Given the description of an element on the screen output the (x, y) to click on. 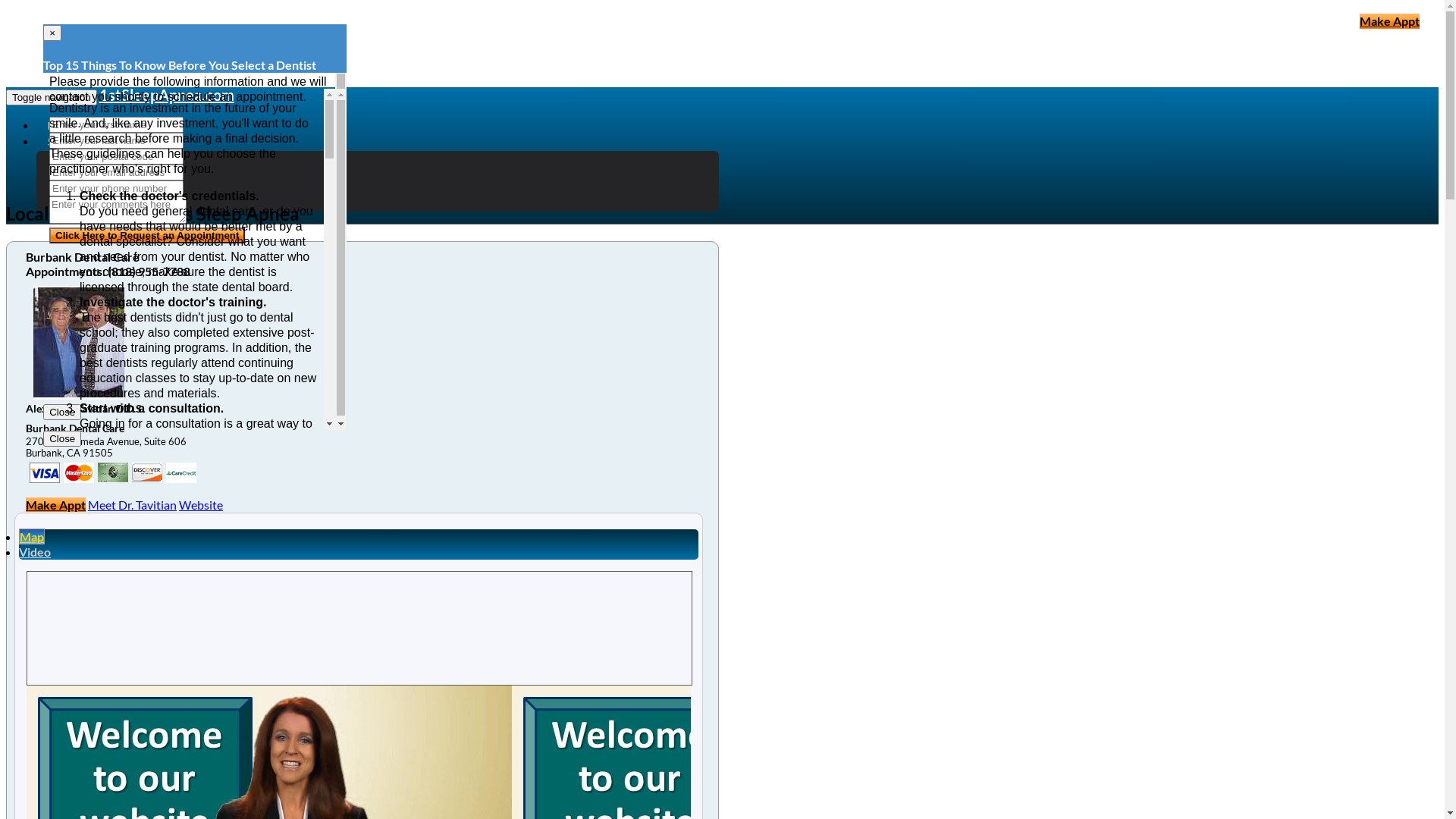
my title Element type: hover (78, 472)
Make Appt Element type: text (1389, 20)
Sleep Mask Element type: text (95, 203)
Video Element type: text (34, 551)
Make Appt Element type: text (55, 504)
my title Element type: hover (44, 472)
my title Element type: hover (181, 472)
Toggle navigation Element type: text (51, 97)
my title Element type: hover (112, 472)
Meet Dr. Tavitian Element type: text (131, 504)
1stSleepApnea.com Element type: text (166, 94)
Close Element type: text (62, 412)
Map Element type: text (31, 536)
my title Element type: hover (146, 472)
Sleep Disorders Element type: text (107, 188)
Home Element type: text (60, 125)
CPAP Element type: text (81, 173)
Sleep Apnea Articles Element type: text (93, 141)
Snoring Relief Element type: text (102, 157)
Close Element type: text (62, 438)
Website Element type: text (200, 504)
